Given the description of an element on the screen output the (x, y) to click on. 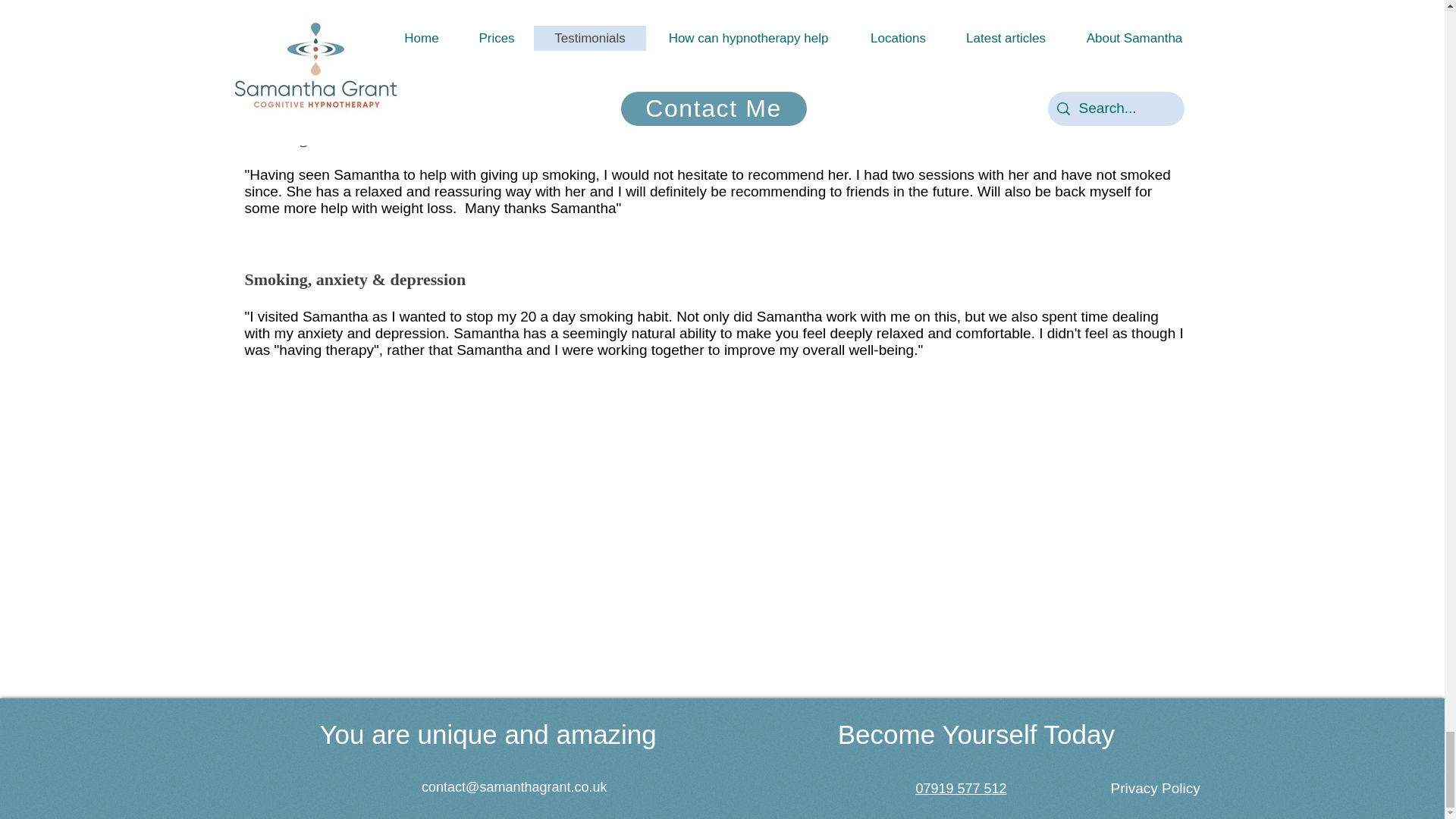
07919 577 512 (960, 788)
Privacy Policy (1154, 788)
